Given the description of an element on the screen output the (x, y) to click on. 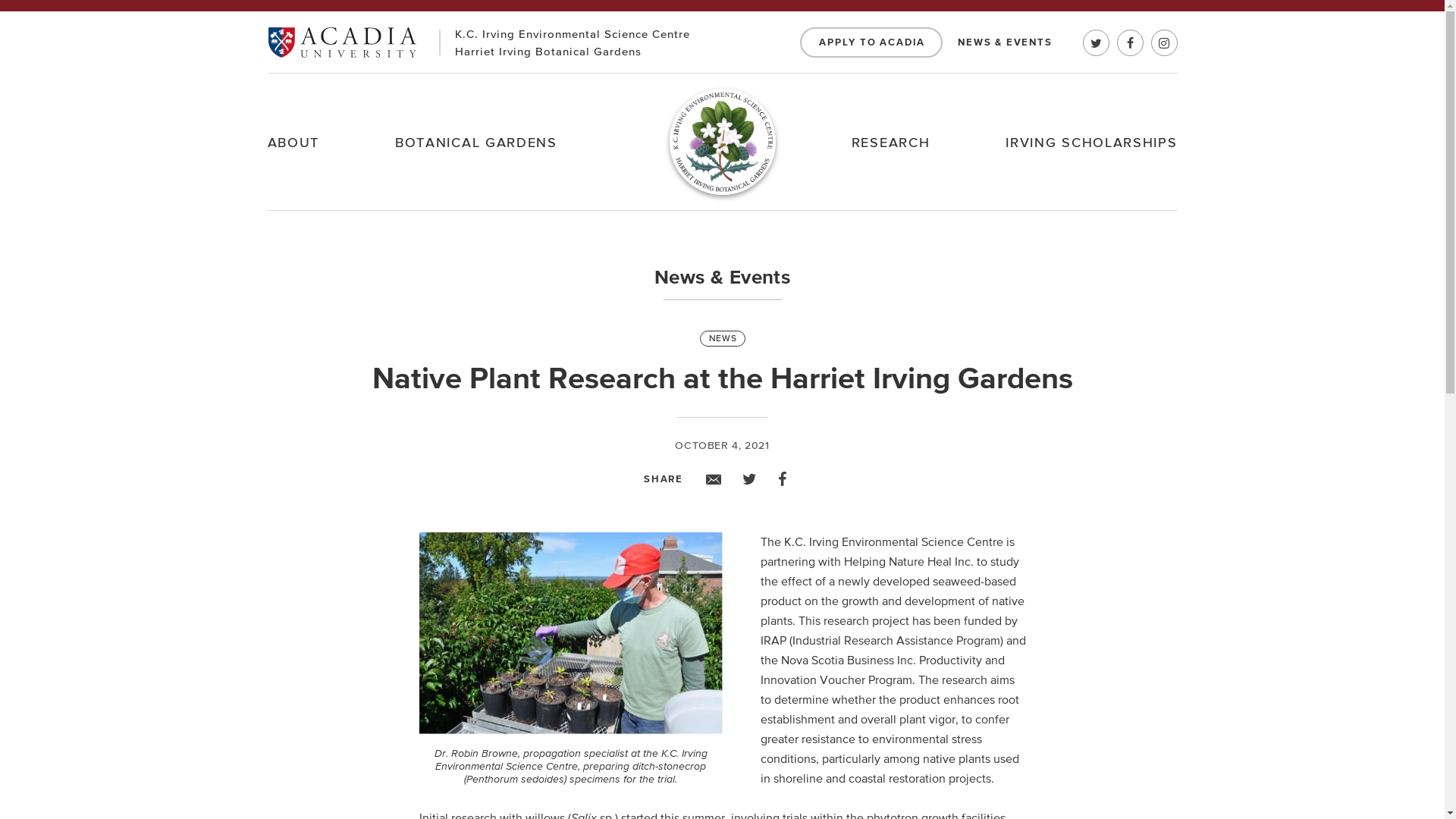
HOME Element type: text (721, 141)
SHARE Element type: text (663, 479)
NEWS Element type: text (721, 338)
Share on Twitter Element type: hover (749, 479)
NEWS & EVENTS Element type: text (1004, 42)
Like us on Facebook Element type: hover (1129, 41)
BOTANICAL GARDENS Element type: text (476, 141)
Follow us on Twitter Element type: hover (1095, 41)
ABOUT Element type: text (292, 141)
IRVING SCHOLARSHIPS Element type: text (1090, 141)
Acadia University Element type: text (340, 41)
APPLY TO ACADIA Element type: text (871, 42)
Share on Facebook Element type: hover (782, 479)
Share by Email Element type: hover (713, 479)
Find us on Instagram Element type: hover (1164, 41)
RESEARCH Element type: text (890, 141)
